Given the description of an element on the screen output the (x, y) to click on. 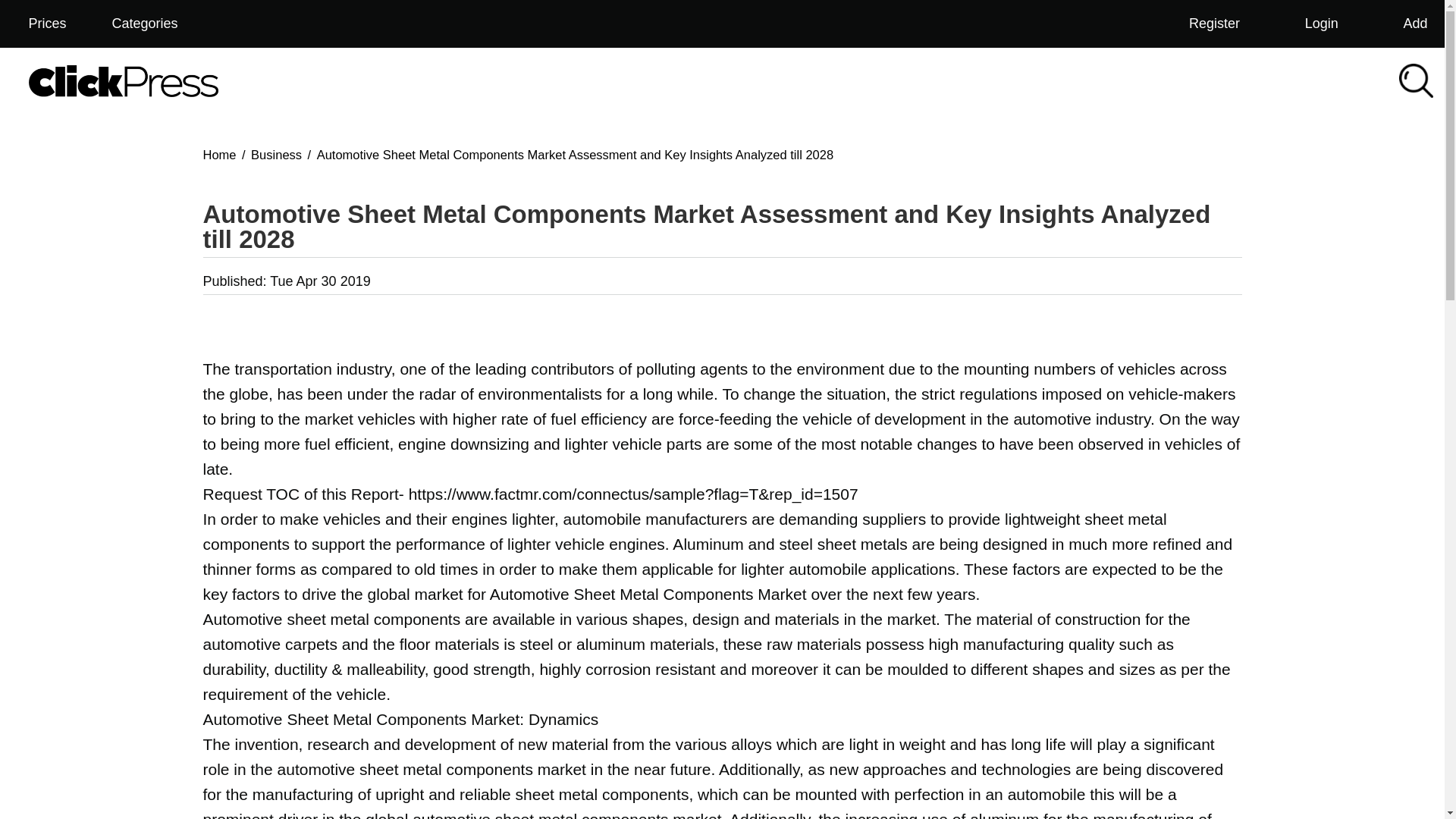
Prices (46, 23)
Login (1311, 23)
Categories   (155, 23)
Add (1406, 23)
Business (275, 153)
Register (1203, 23)
Home (219, 153)
